Given the description of an element on the screen output the (x, y) to click on. 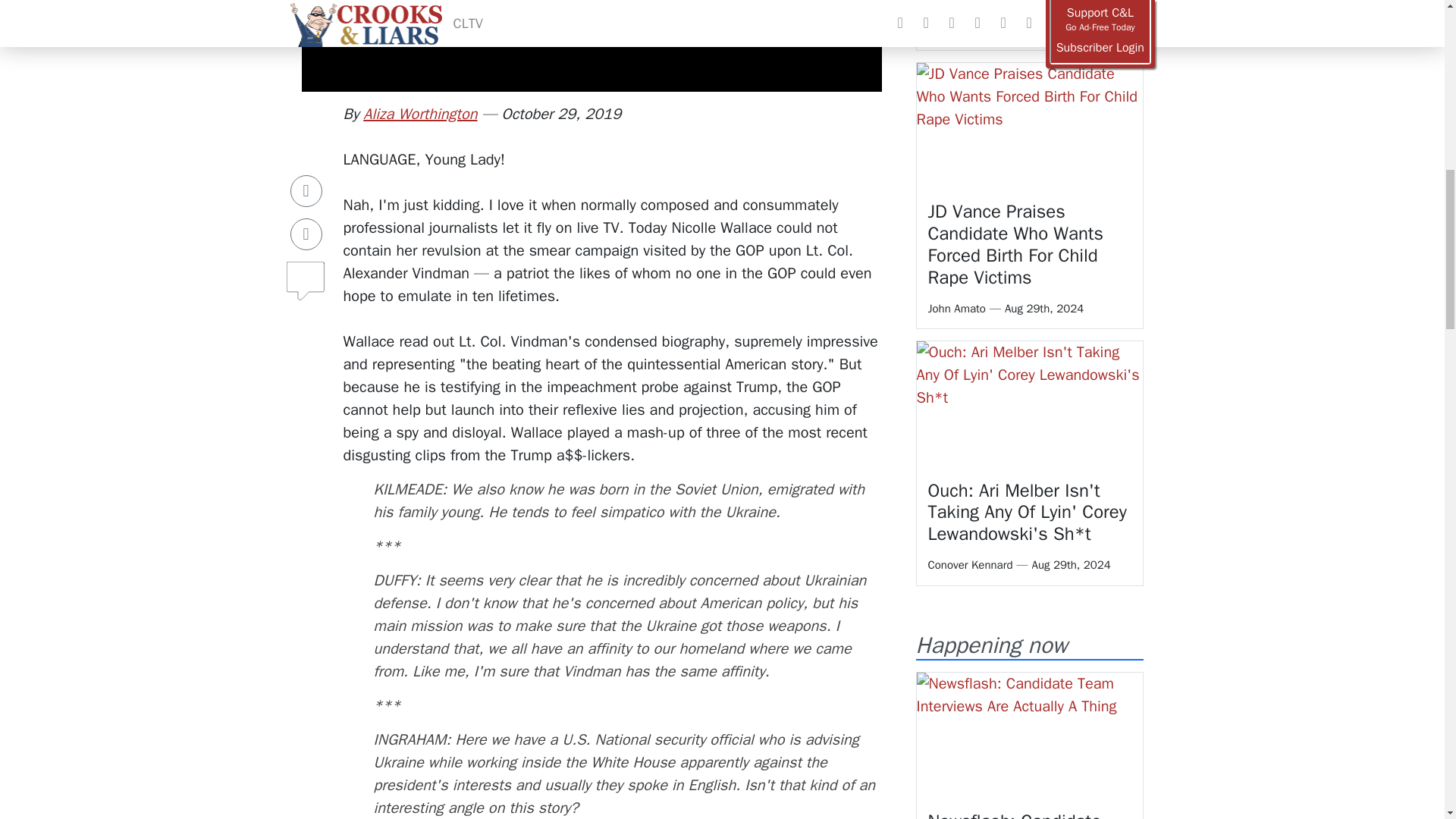
Comments (306, 225)
Aliza Worthington (419, 113)
Share on Facebook (306, 142)
Share on Twitter (306, 184)
Aliza Worthington (419, 113)
